Given the description of an element on the screen output the (x, y) to click on. 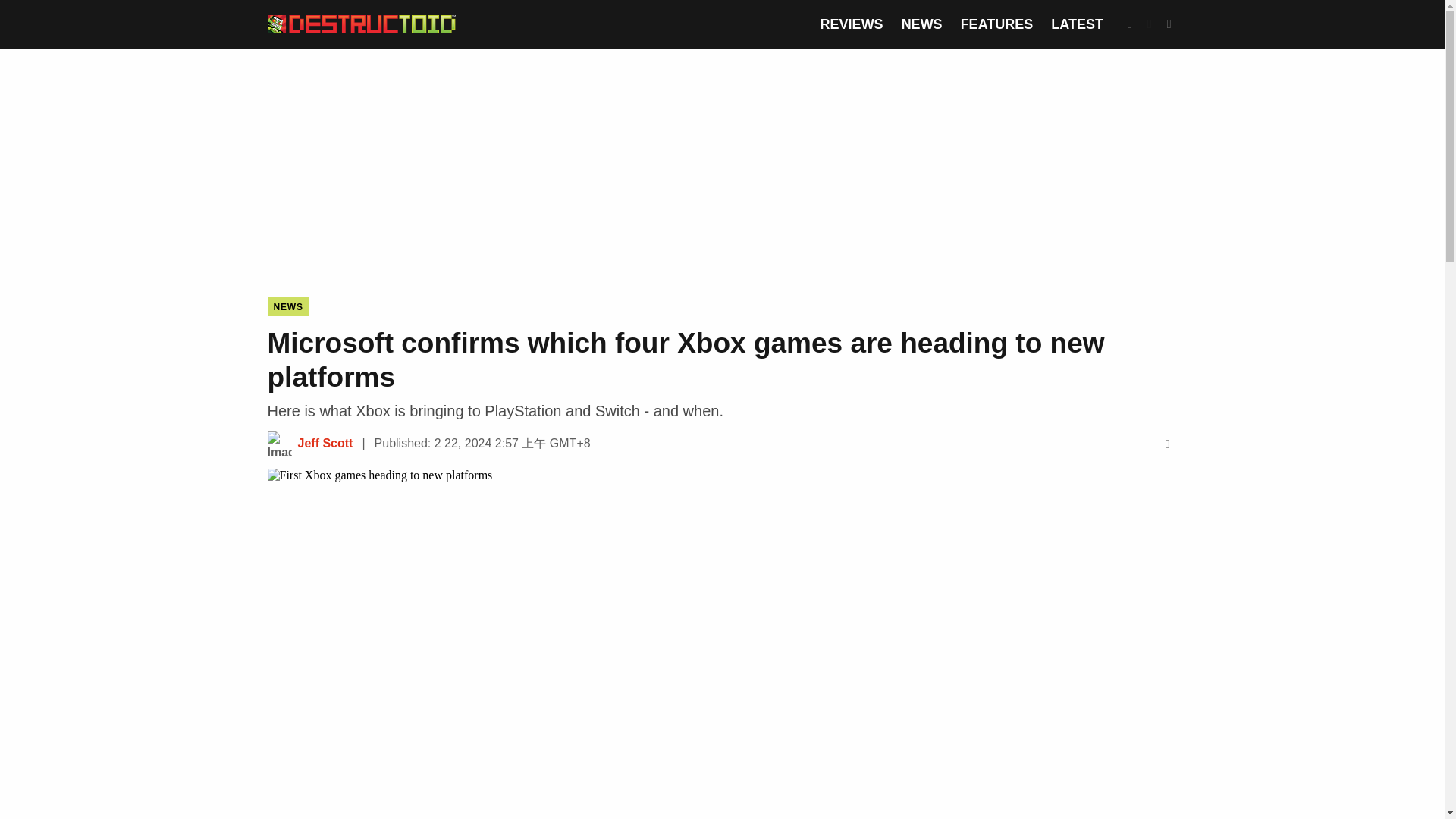
REVIEWS (852, 23)
FEATURES (996, 23)
LATEST (1077, 23)
NEWS (287, 306)
NEWS (921, 23)
